Given the description of an element on the screen output the (x, y) to click on. 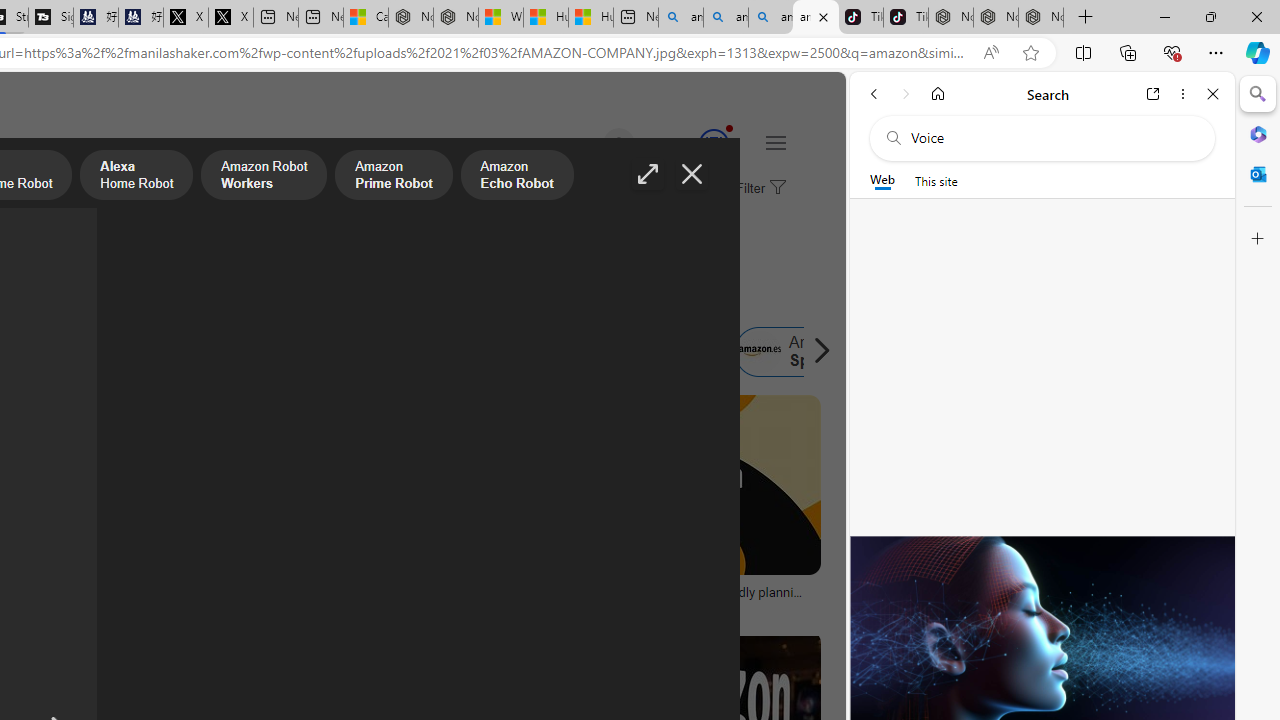
Class: medal-circled (713, 143)
Amazon Shoes (618, 351)
Open link in new tab (1153, 93)
Scroll right (816, 351)
downdetector.ae (249, 605)
